Given the description of an element on the screen output the (x, y) to click on. 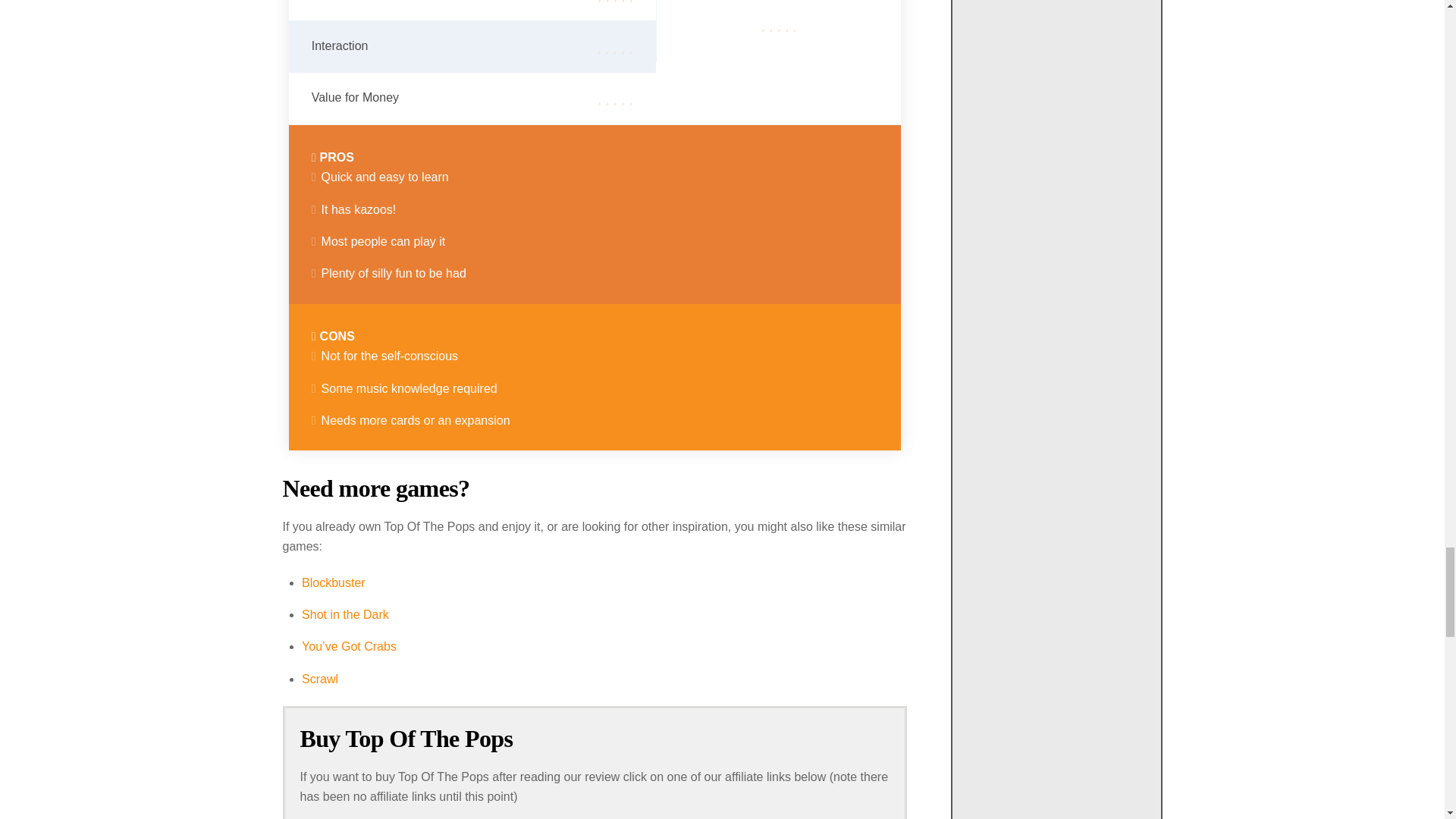
Scrawl (319, 678)
Shot in the Dark (344, 614)
Blockbuster (333, 582)
